Given the description of an element on the screen output the (x, y) to click on. 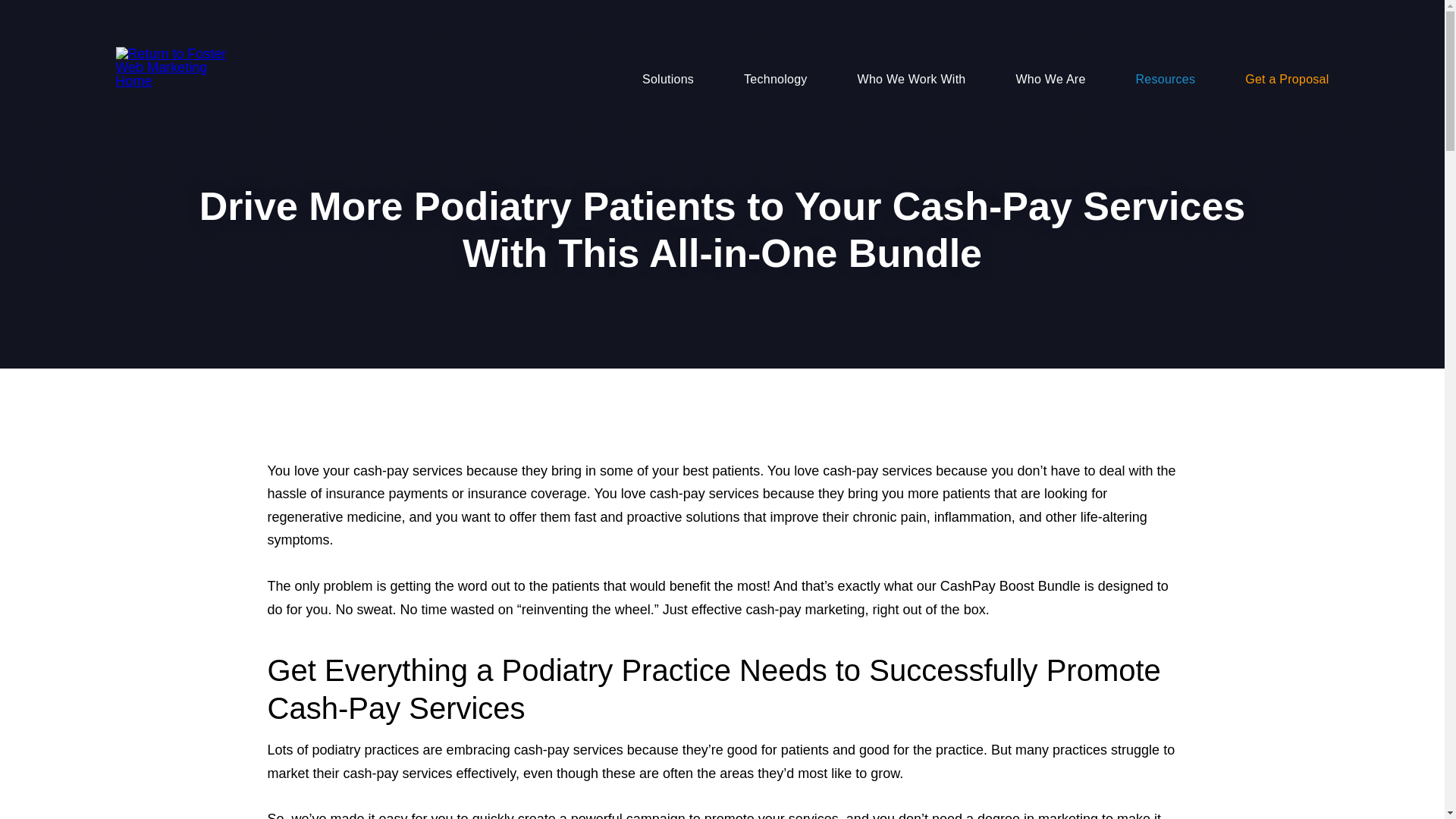
Resources (1140, 80)
Get a Proposal (1261, 80)
Solutions (643, 80)
Who We Are (1026, 80)
Technology (750, 80)
Who We Work With (887, 80)
